Given the description of an element on the screen output the (x, y) to click on. 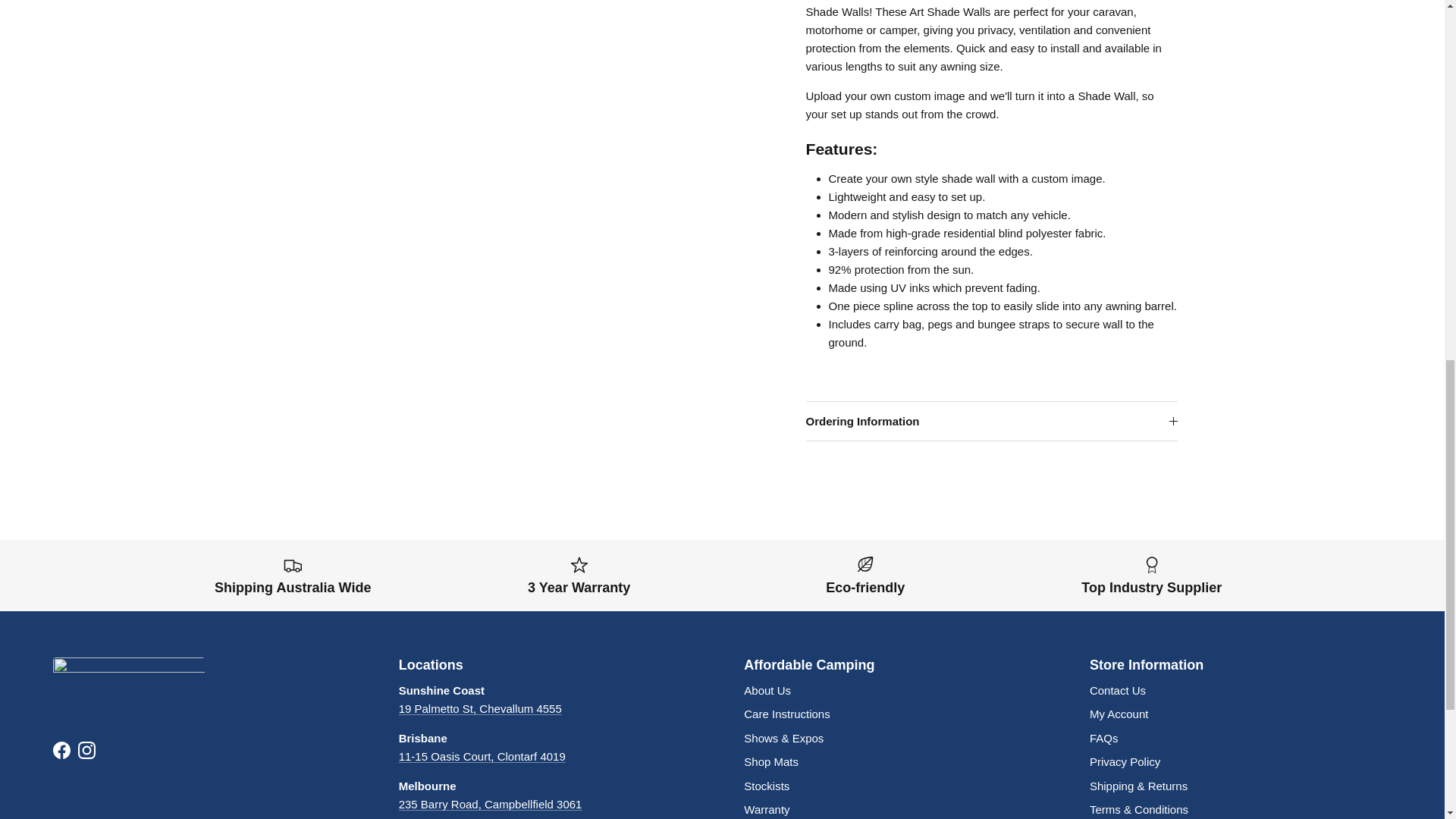
19 Palmetto St, Chevallum (480, 707)
Affordable Camping Mats on Facebook (60, 750)
Affordable Camping Mats on Instagram (87, 750)
